Given the description of an element on the screen output the (x, y) to click on. 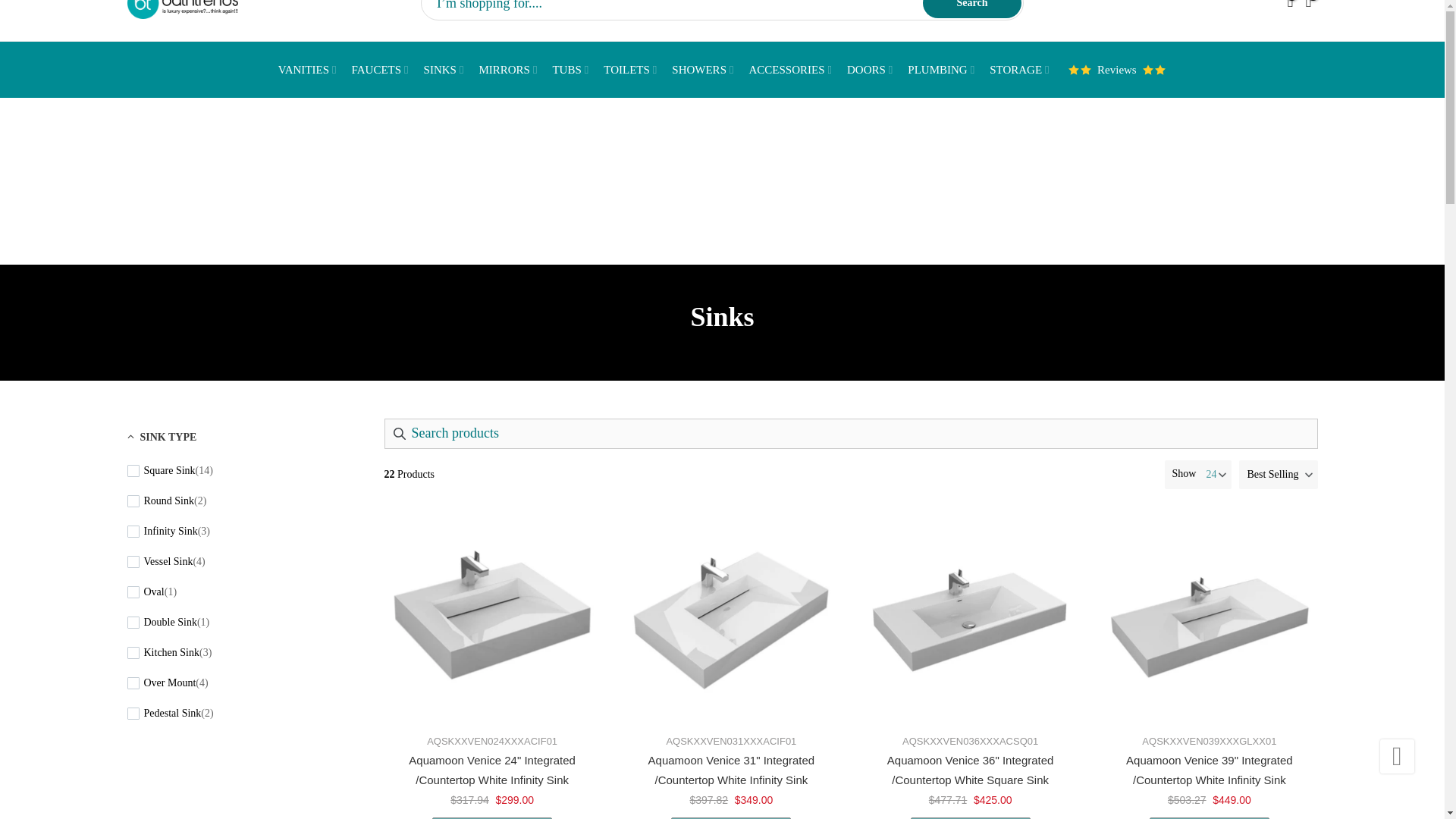
0 (1307, 6)
Search (972, 9)
1-800-413-2701 (769, 77)
VANITIES (306, 68)
FAUCETS (379, 68)
SINKS (443, 68)
0 (1289, 6)
